Given the description of an element on the screen output the (x, y) to click on. 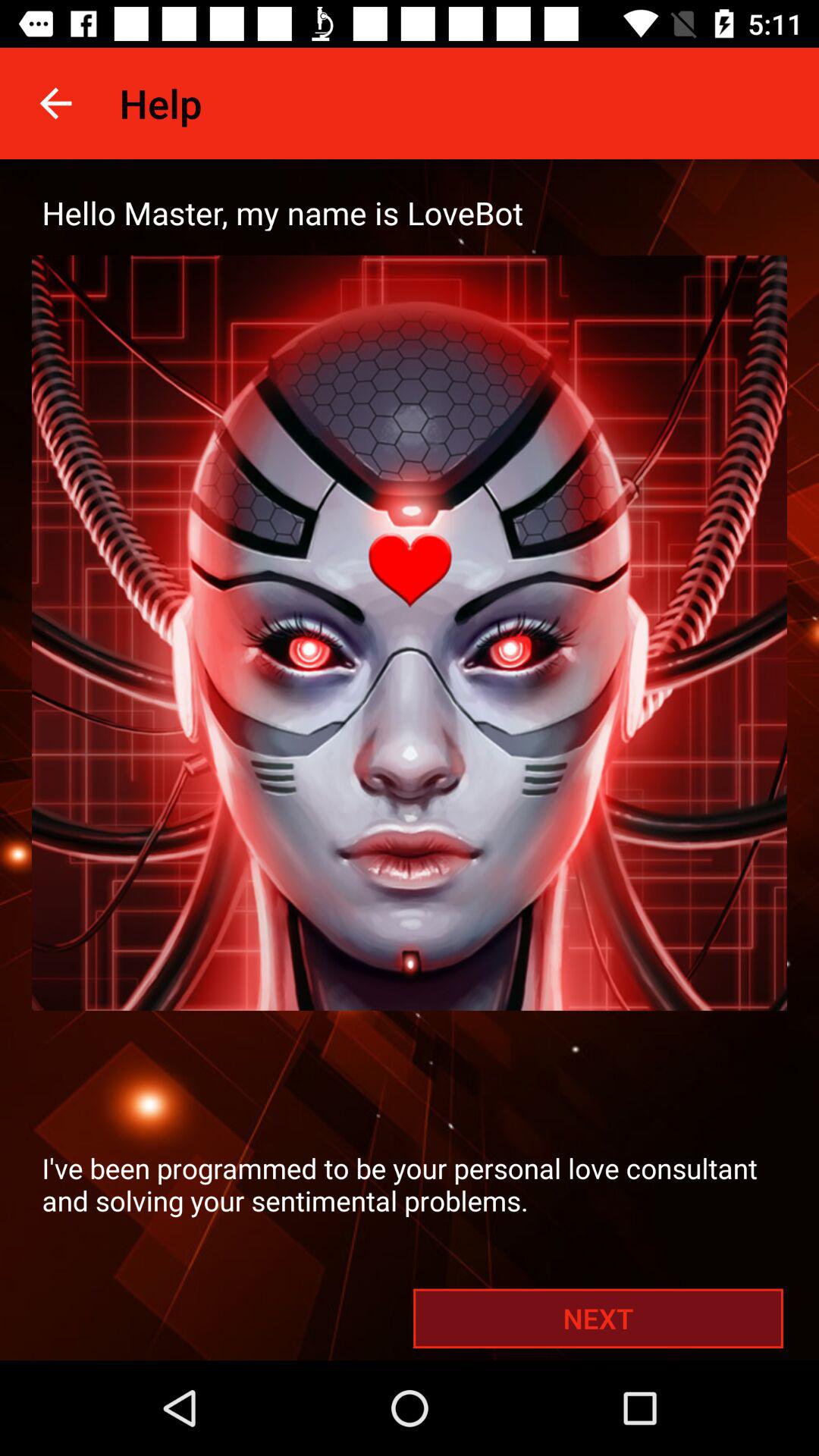
tap the icon below the i ve been (598, 1318)
